Given the description of an element on the screen output the (x, y) to click on. 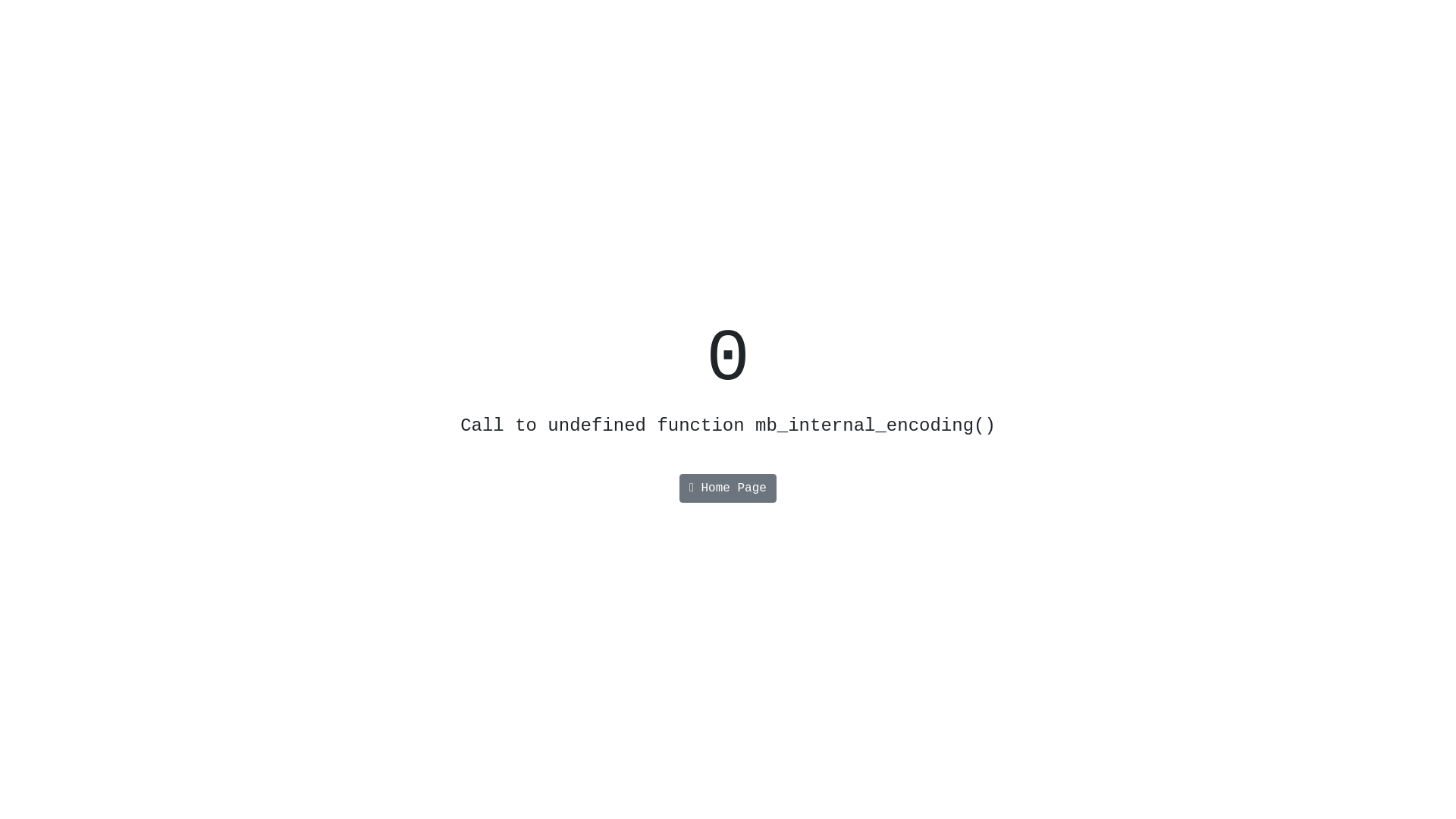
Home Page Element type: text (727, 487)
